Given the description of an element on the screen output the (x, y) to click on. 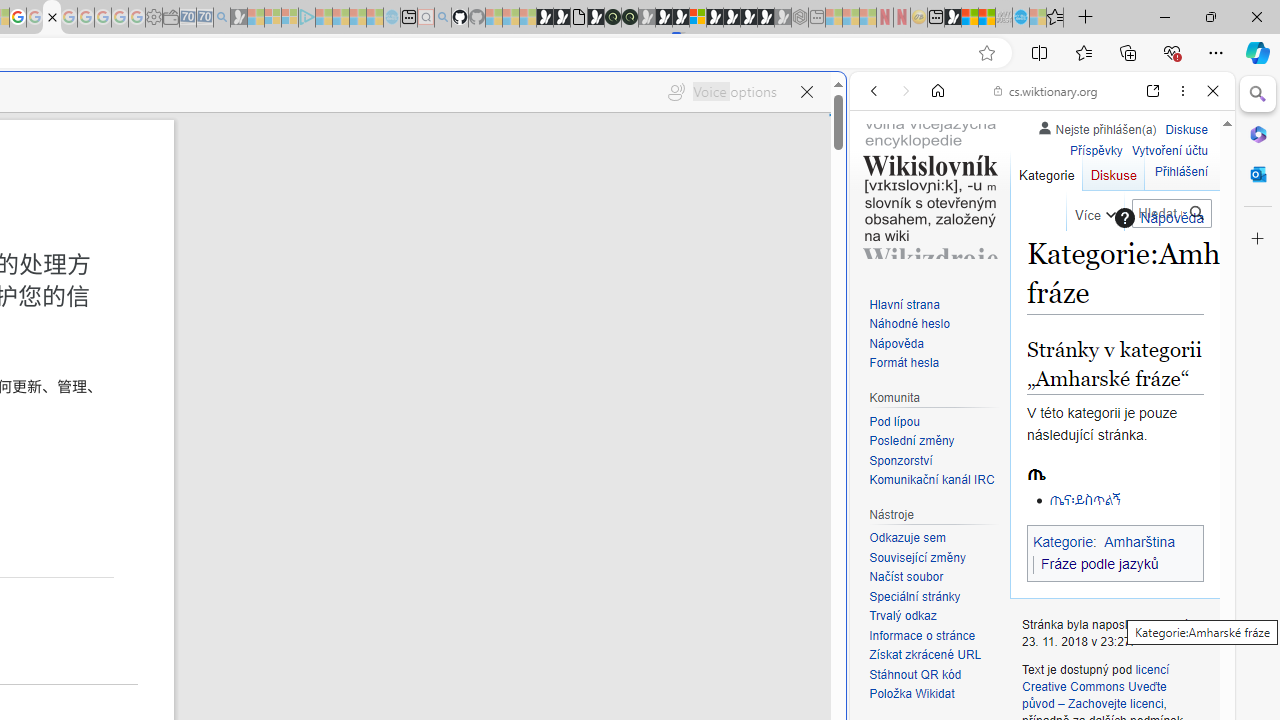
Odkazuje sem (934, 538)
Sign in to your account (697, 17)
Play Cave FRVR in your browser | Games from Microsoft Start (343, 426)
Close read aloud (805, 92)
MSN (952, 17)
google_privacy_policy_zh-CN.pdf (51, 17)
